Given the description of an element on the screen output the (x, y) to click on. 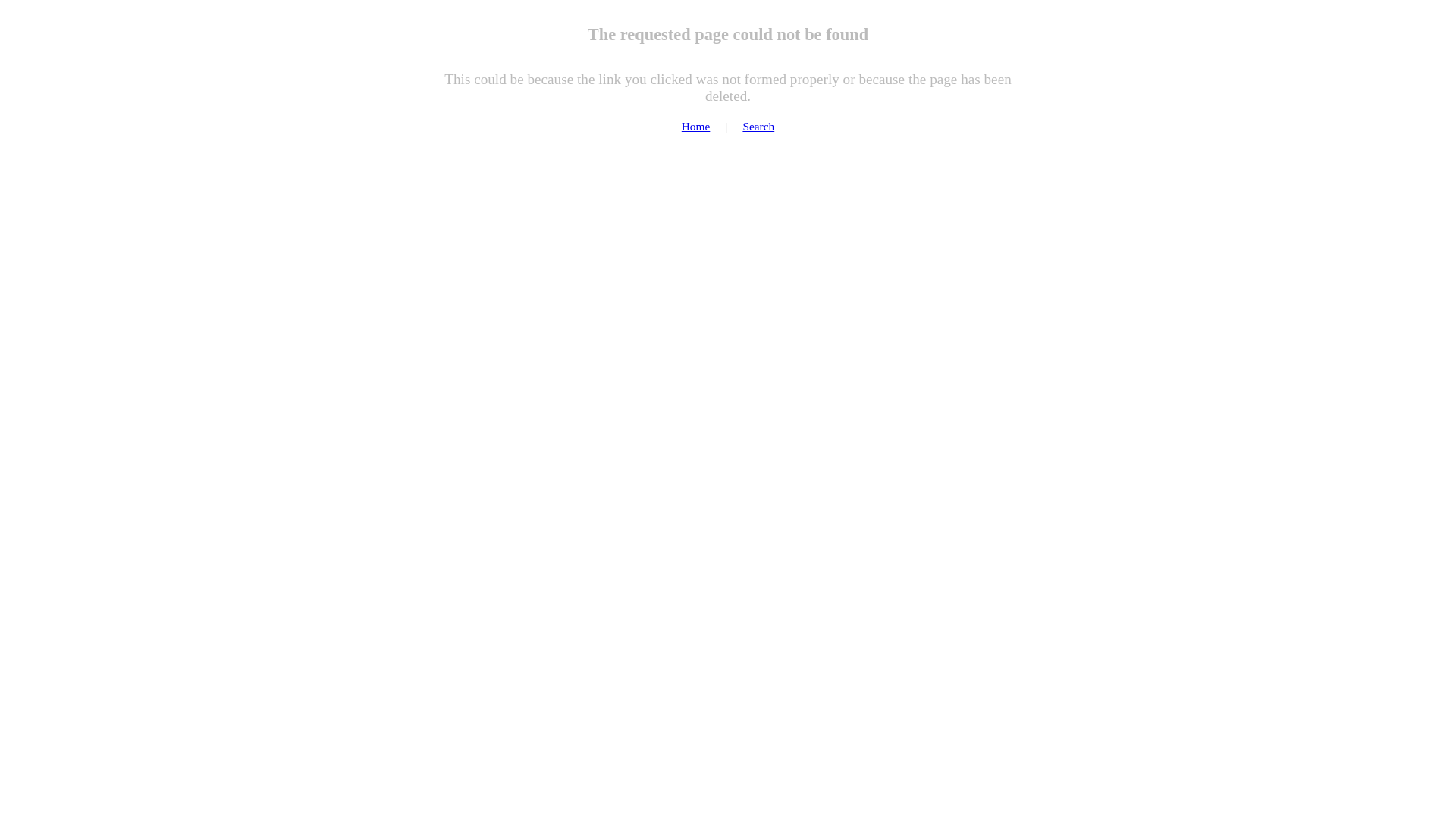
Search Element type: text (758, 125)
Home Element type: text (695, 125)
